Given the description of an element on the screen output the (x, y) to click on. 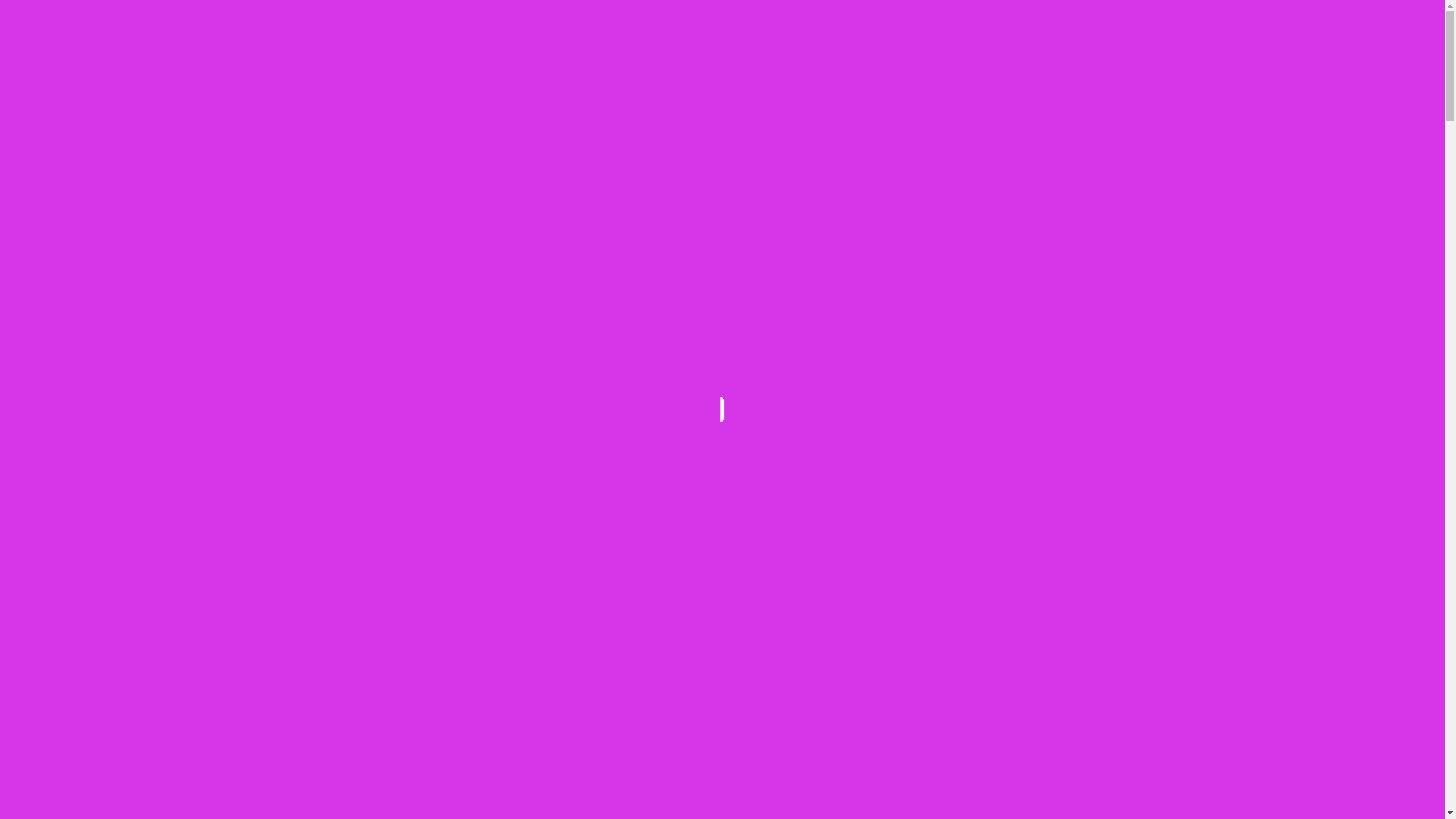
Internet Element type: text (738, 75)
Bosnian Element type: hover (1173, 11)
037 961 000 Element type: text (976, 22)
Naslovna Element type: text (516, 75)
Paketi Element type: text (585, 75)
Televizija Element type: text (664, 75)
MissNet WebMail Element type: hover (1116, 105)
missnet@miss.net.ba Element type: text (1097, 22)
Telefonija Element type: text (803, 75)
Vijesti Element type: text (1053, 75)
